Given the description of an element on the screen output the (x, y) to click on. 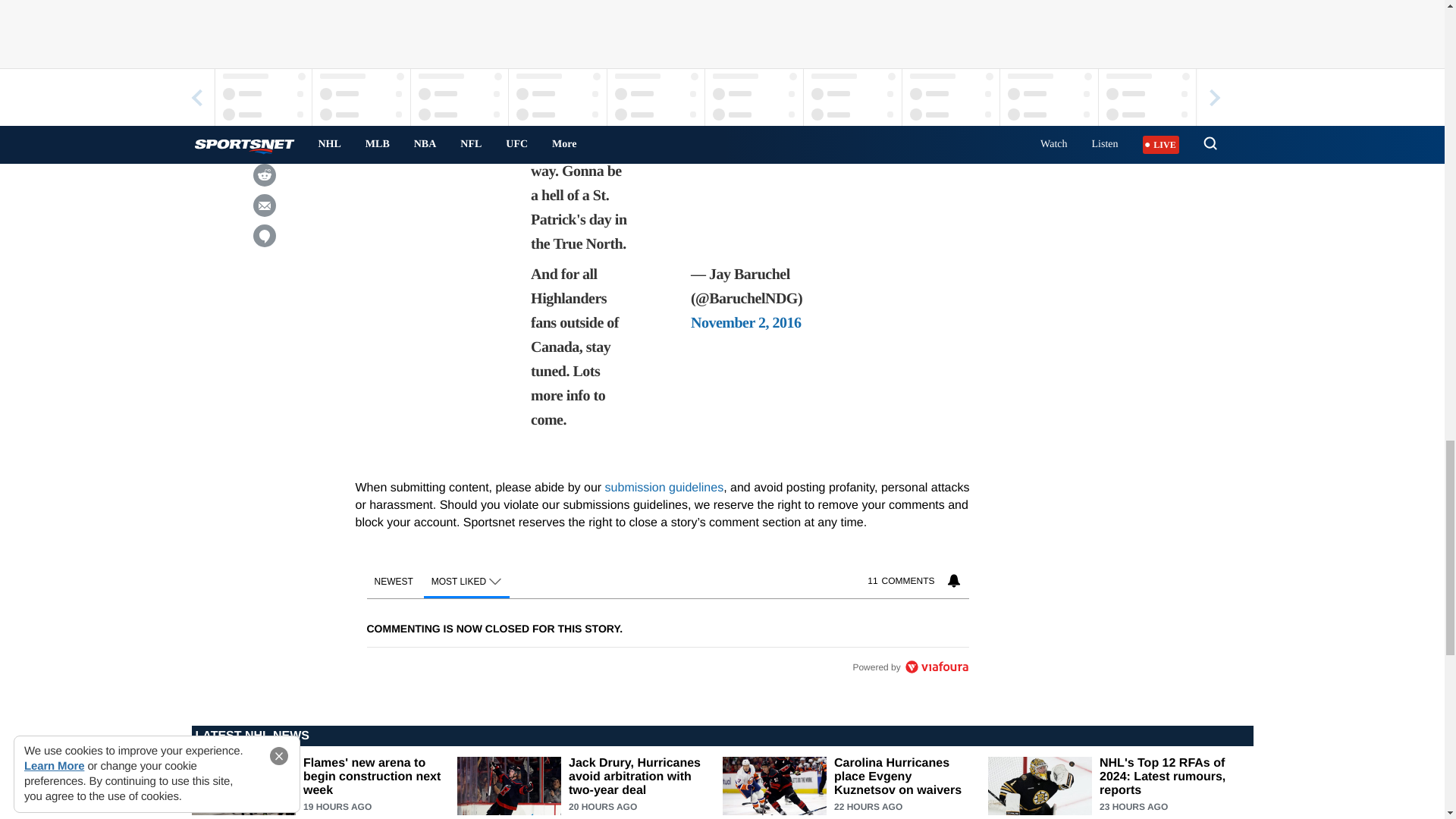
Visit the Viafoura website (936, 666)
